Given the description of an element on the screen output the (x, y) to click on. 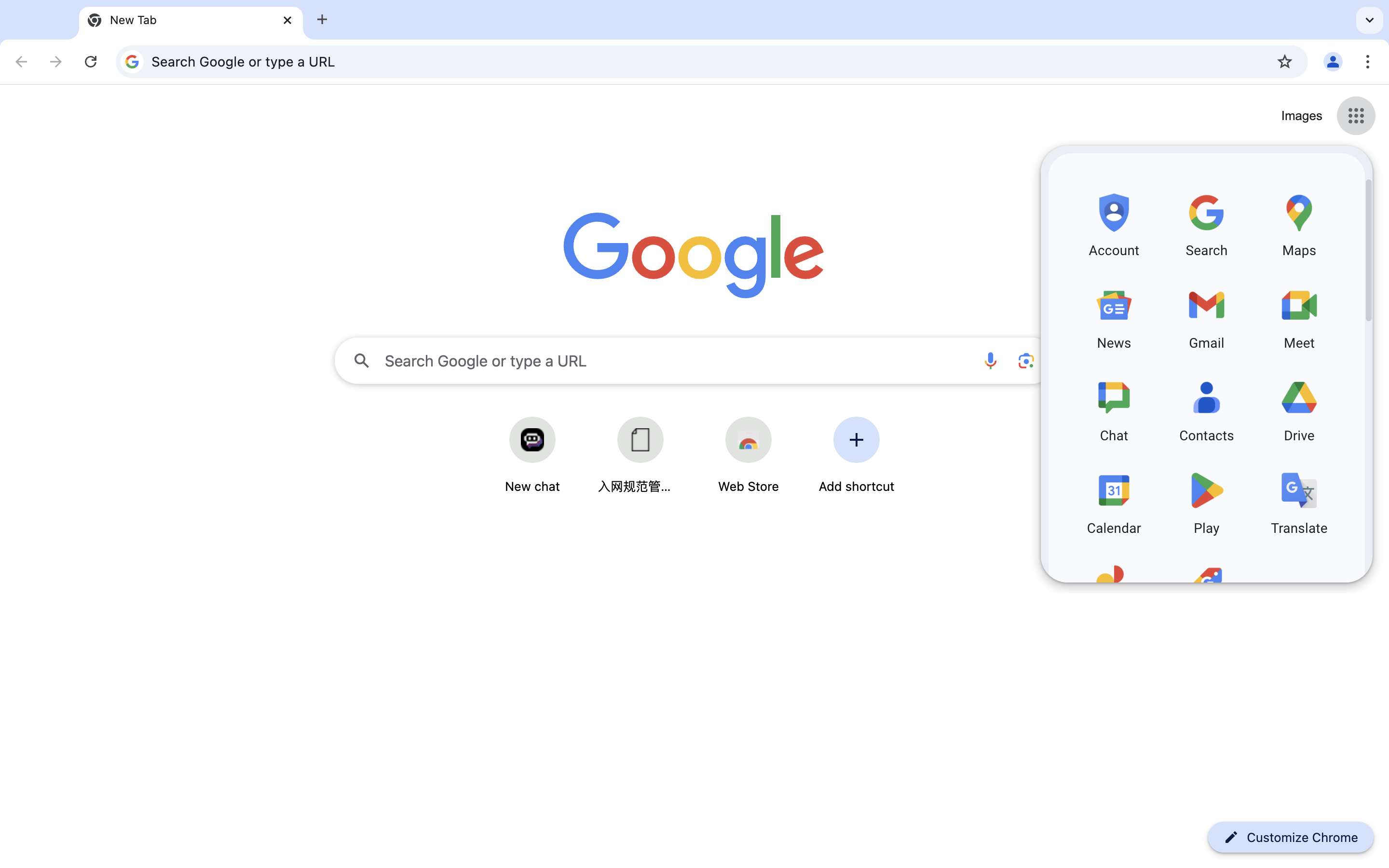
True Element type: AXRadioButton (190, 20)
Images Element type: AXStaticText (1301, 115)
